Given the description of an element on the screen output the (x, y) to click on. 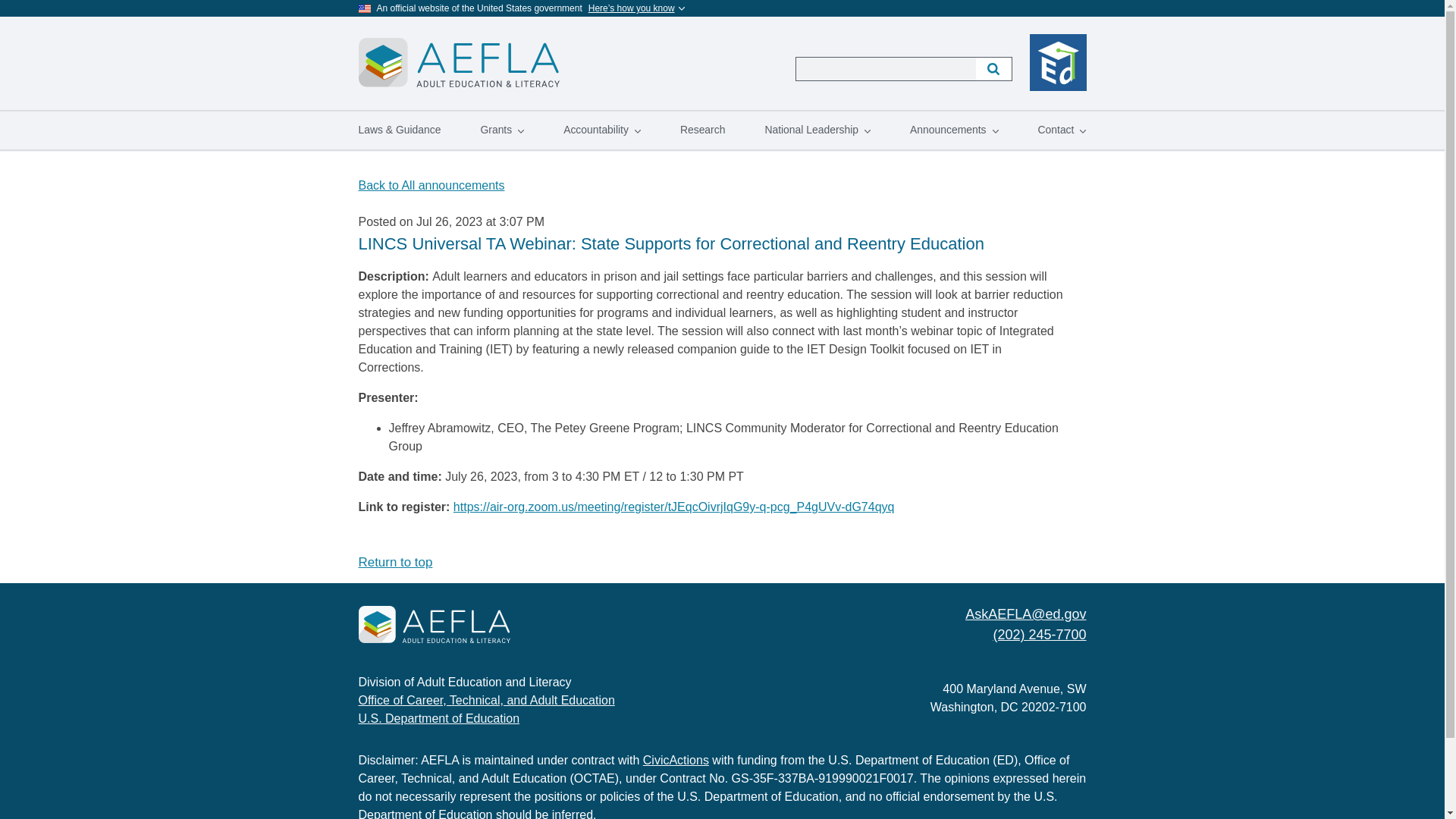
Accountability (601, 130)
U.S. Department of Education (438, 717)
Enter the terms you wish to search for. (884, 68)
Contact (1062, 130)
Grants (501, 130)
Home (458, 52)
CivicActions (676, 759)
Research (703, 130)
Home (433, 627)
Back to All announcements (430, 185)
ed.gov (1057, 62)
Office of Career, Technical, and Adult Education (486, 699)
Return to top (395, 562)
National Leadership (817, 130)
